Given the description of an element on the screen output the (x, y) to click on. 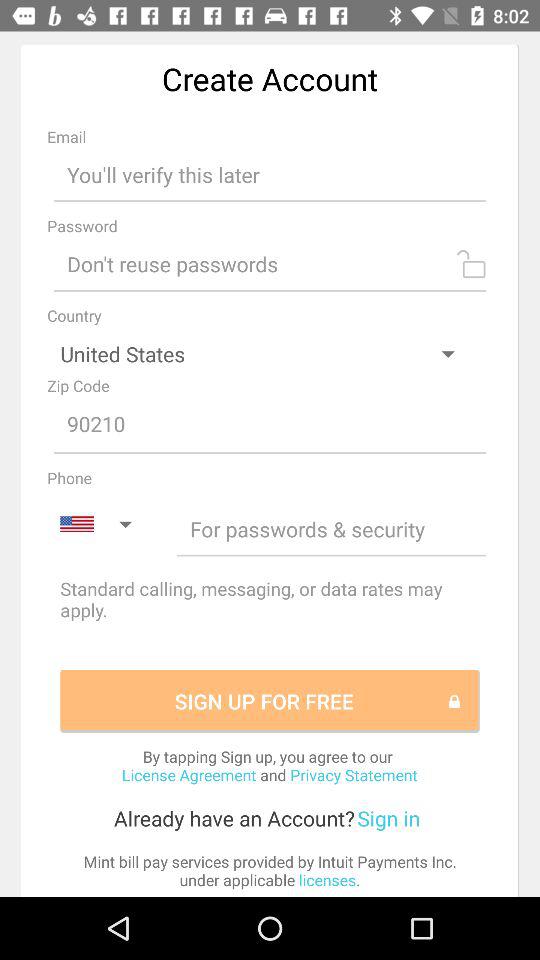
go to type the number (270, 425)
